Given the description of an element on the screen output the (x, y) to click on. 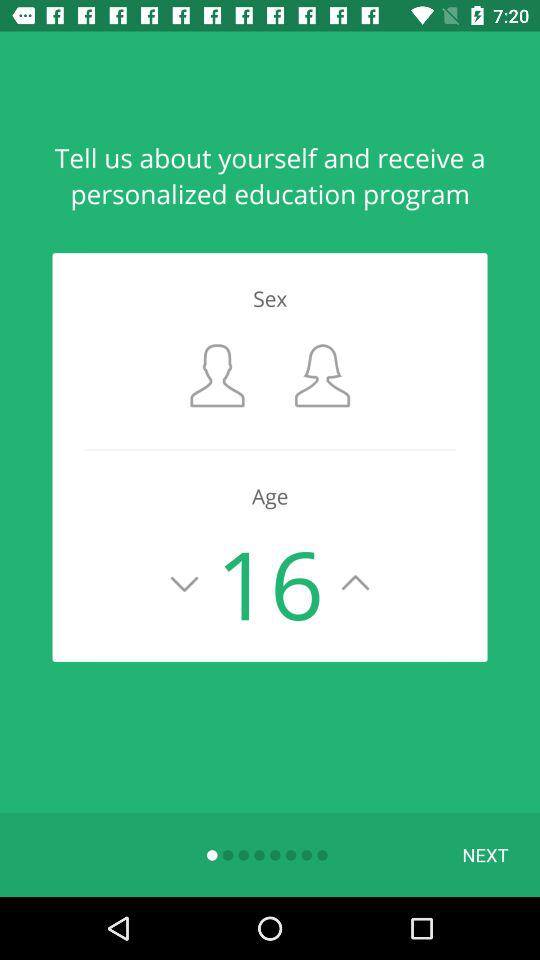
select the item below sex (321, 375)
